Given the description of an element on the screen output the (x, y) to click on. 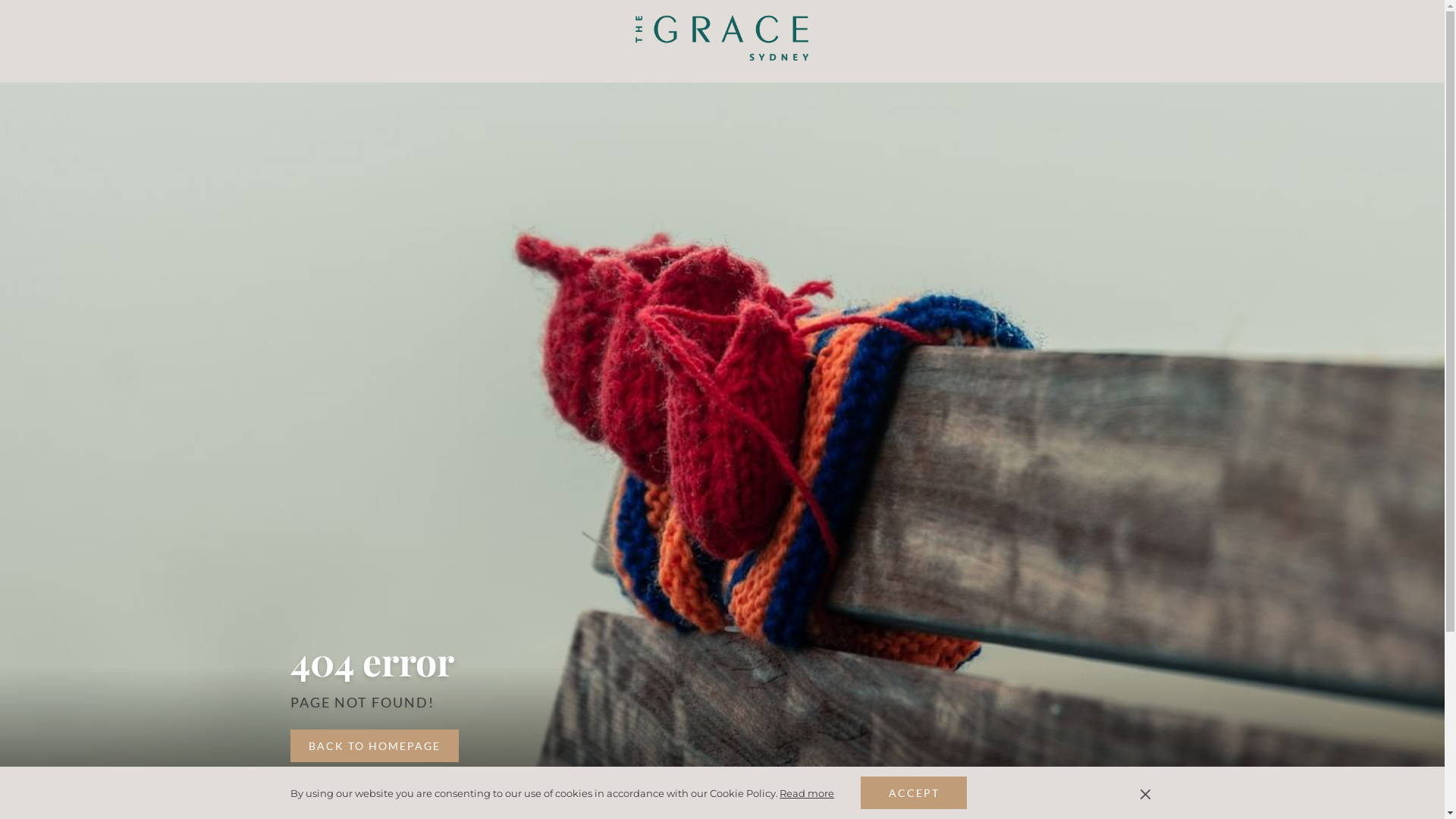
Read more Element type: text (807, 792)
Back to the homepage Element type: hover (722, 37)
BACK TO HOMEPAGE Element type: text (373, 745)
ACCEPT Element type: text (913, 792)
